Given the description of an element on the screen output the (x, y) to click on. 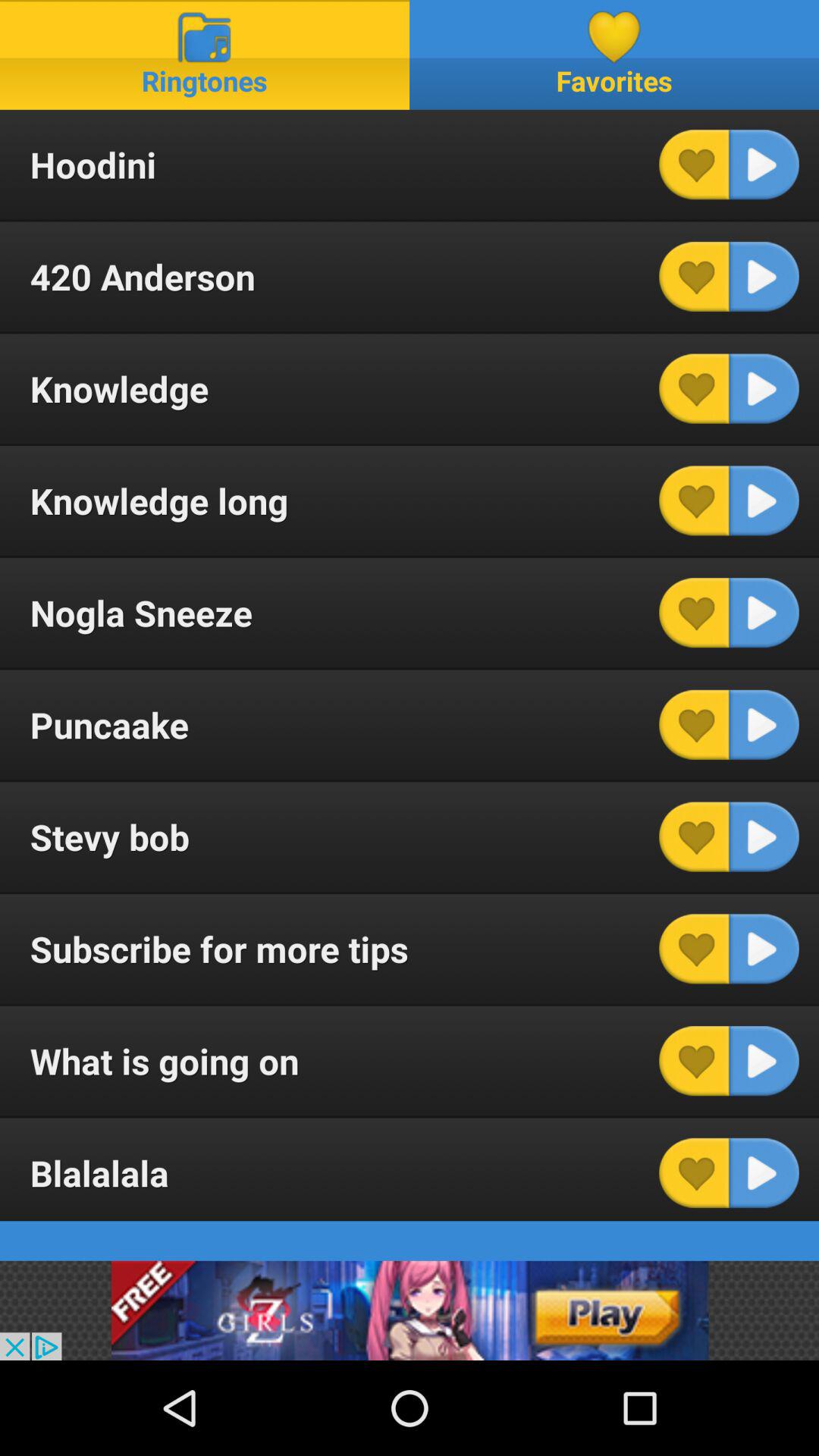
favorite box (694, 948)
